Given the description of an element on the screen output the (x, y) to click on. 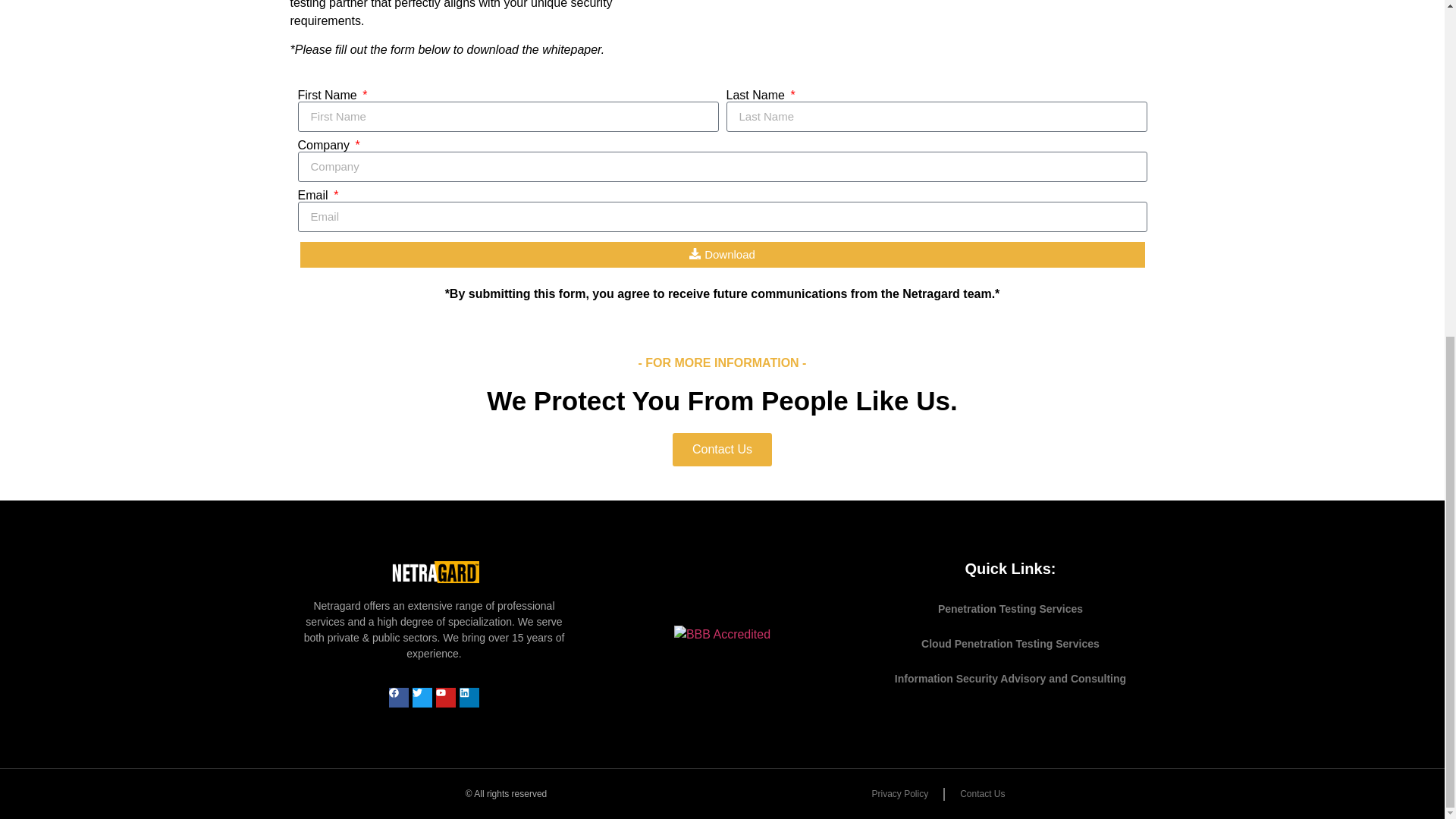
Cloud Penetration Testing Services (1010, 643)
Download (722, 254)
Contact Us (721, 449)
Information Security Advisory and Consulting (1010, 678)
BBB-Accredited-Business-Logo (722, 634)
Penetration Testing Services (1010, 608)
